Given the description of an element on the screen output the (x, y) to click on. 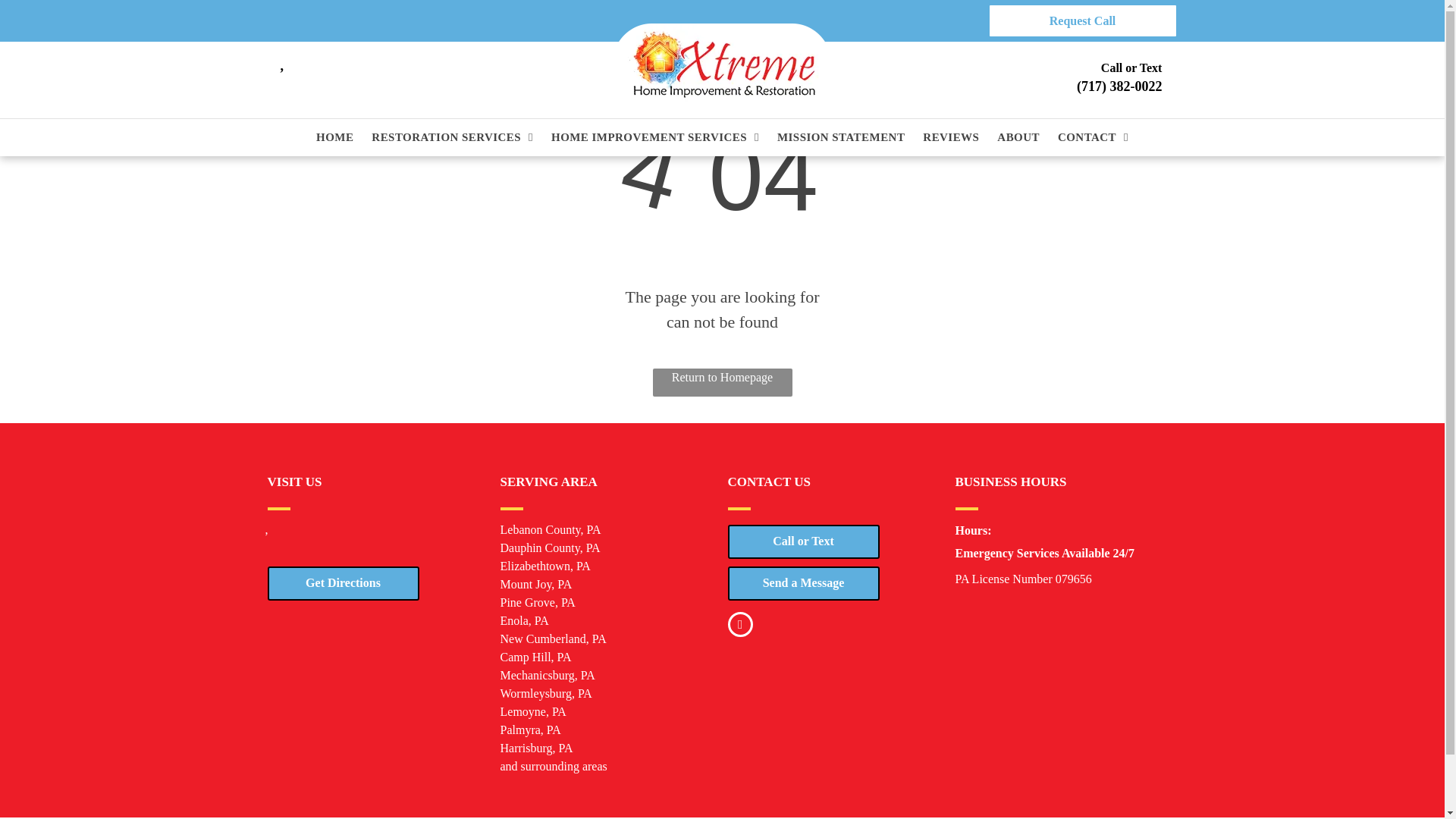
HOME IMPROVEMENT SERVICES (655, 137)
MISSION STATEMENT (840, 137)
Send a Message (803, 582)
Call or Text (803, 541)
CONTACT (1093, 137)
ABOUT (1018, 137)
Return to Homepage (722, 382)
Request Call (1081, 20)
REVIEWS (950, 137)
RESTORATION SERVICES (451, 137)
